Given the description of an element on the screen output the (x, y) to click on. 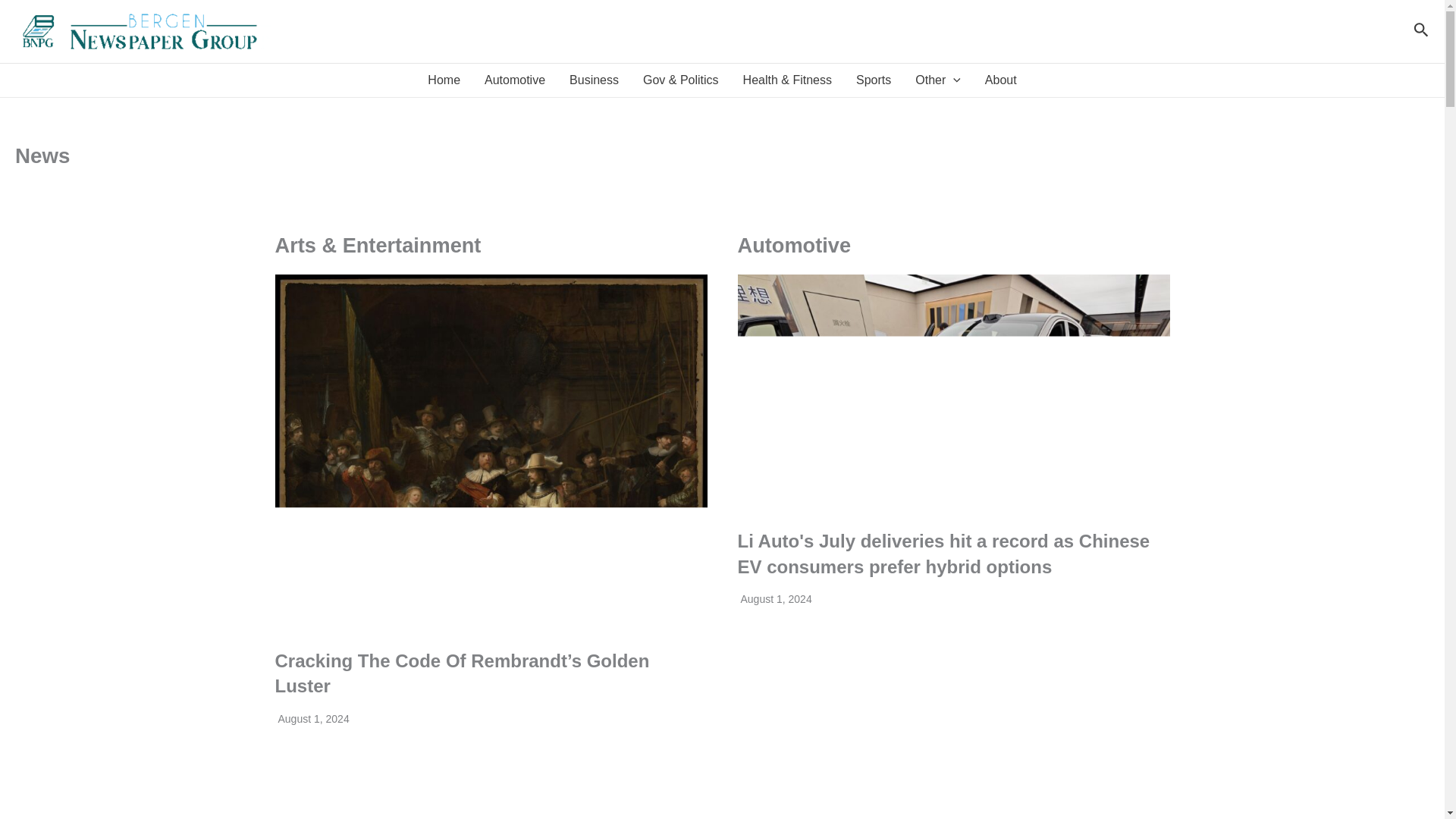
Home (442, 80)
Business (593, 80)
Automotive (514, 80)
Other (937, 80)
About (1000, 80)
Sports (873, 80)
